Given the description of an element on the screen output the (x, y) to click on. 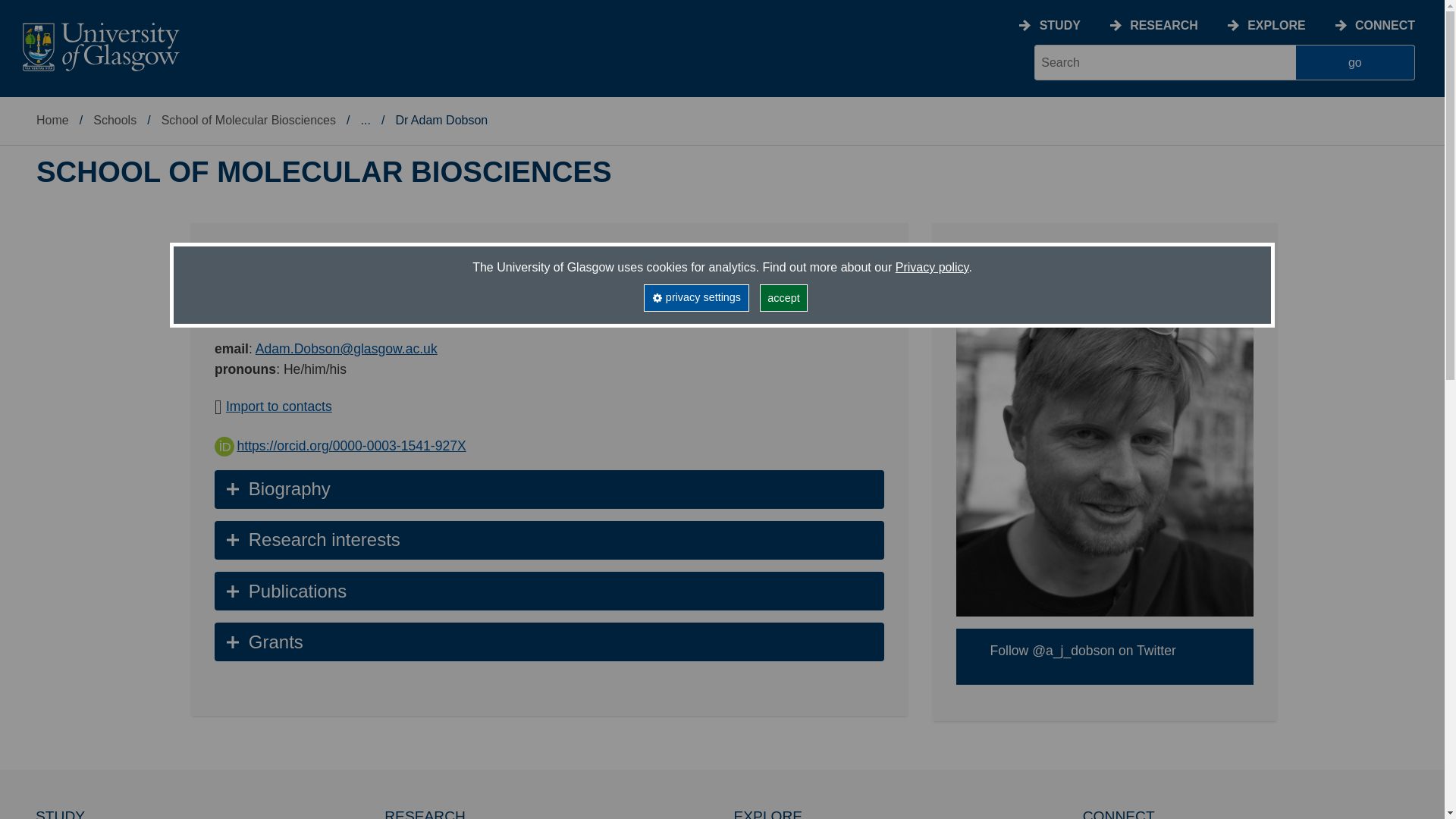
submit (1355, 62)
go (1355, 62)
Home (52, 119)
RESEARCH (1163, 24)
accept (784, 298)
search (1164, 62)
go (1355, 62)
Import to contacts (278, 406)
Privacy policy (932, 267)
privacy settings (695, 298)
School of Molecular Biosciences (248, 119)
SCHOOL OF MOLECULAR BIOSCIENCES (323, 172)
EXPLORE (1275, 24)
CONNECT (1385, 24)
Schools (114, 119)
